Given the description of an element on the screen output the (x, y) to click on. 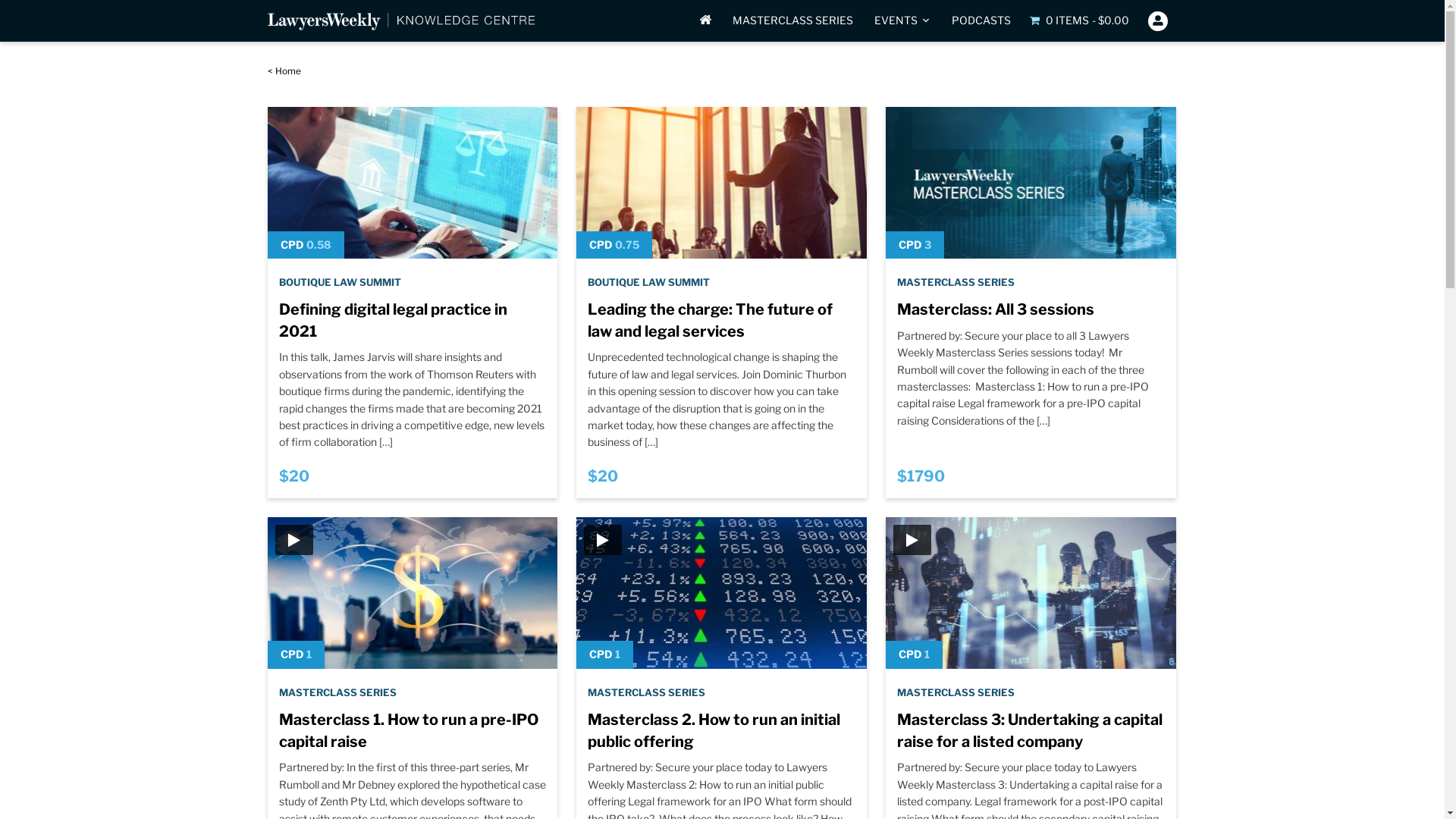
CPD 1 Element type: text (1030, 591)
PODCASTS Element type: text (980, 20)
MASTERCLASS SERIES Element type: text (955, 692)
Masterclass 2. How to run an initial public offering Element type: text (713, 732)
Masterclass 1. How to run a pre-IPO capital raise Element type: text (408, 732)
Masterclass: All 3 sessions Element type: text (995, 311)
CPD 0.75 Element type: text (721, 181)
BOUTIQUE LAW SUMMIT Element type: text (340, 282)
CPD 1 Element type: text (721, 591)
Leading the charge: The future of law and legal services Element type: text (709, 322)
EVENTS Element type: text (901, 20)
CPD 0.58 Element type: text (411, 181)
CPD 1 Element type: text (411, 591)
< Home Element type: text (283, 70)
0 ITEMS$0.00 Element type: text (1079, 19)
MASTERCLASS SERIES Element type: text (792, 20)
MASTERCLASS SERIES Element type: text (646, 692)
BOUTIQUE LAW SUMMIT Element type: text (648, 282)
Defining digital legal practice in 2021 Element type: text (393, 322)
MASTERCLASS SERIES Element type: text (955, 282)
MASTERCLASS SERIES Element type: text (337, 692)
CPD 3 Element type: text (1030, 181)
